Given the description of an element on the screen output the (x, y) to click on. 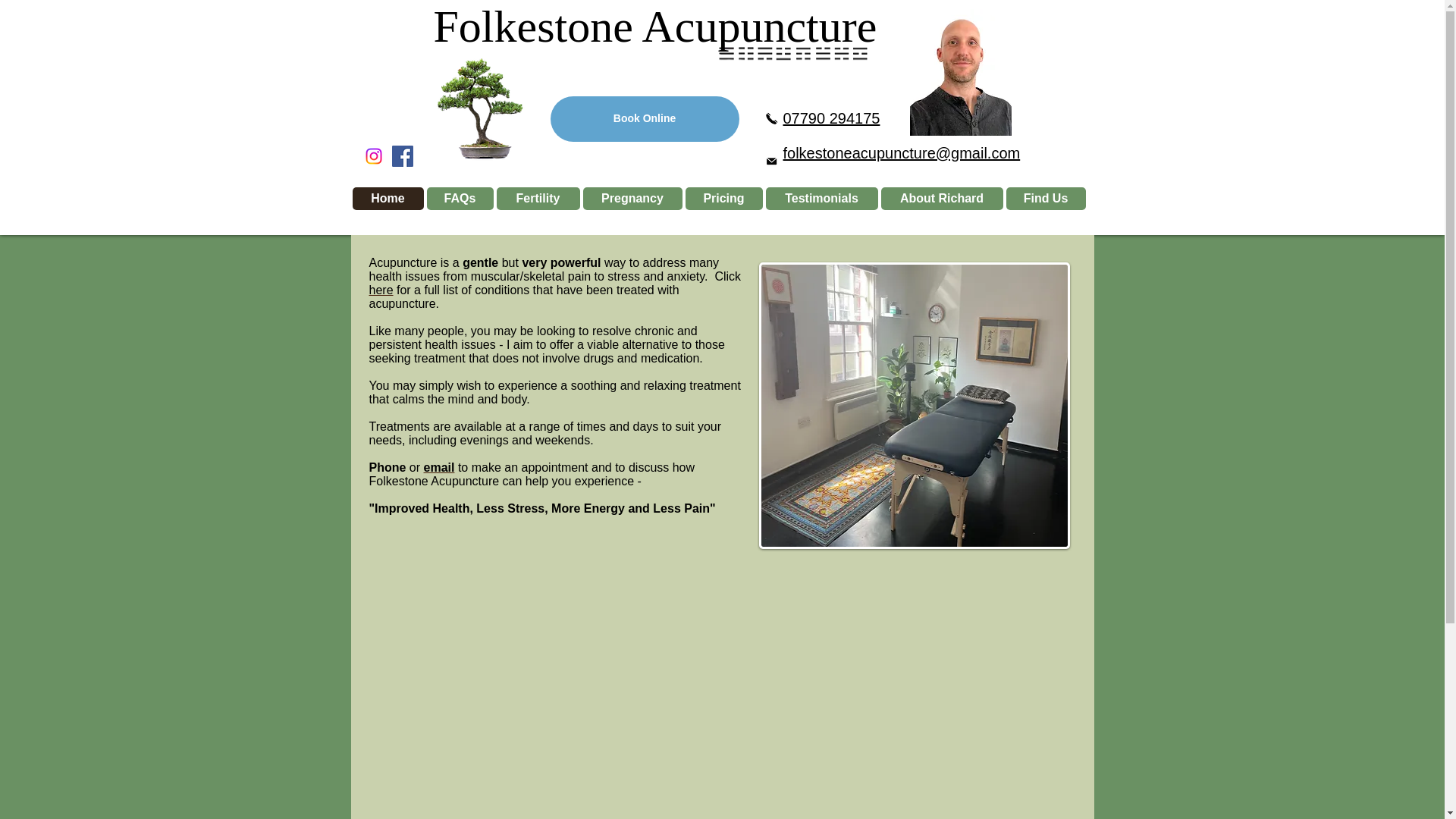
07790 294175 (831, 117)
About Richard (941, 198)
here (380, 289)
Find Us (1045, 198)
Book Online (644, 118)
email (438, 467)
Testimonials (821, 198)
FAQs (459, 198)
Pricing (723, 198)
Home (387, 198)
Fertility (537, 198)
Pregnancy (631, 198)
